Given the description of an element on the screen output the (x, y) to click on. 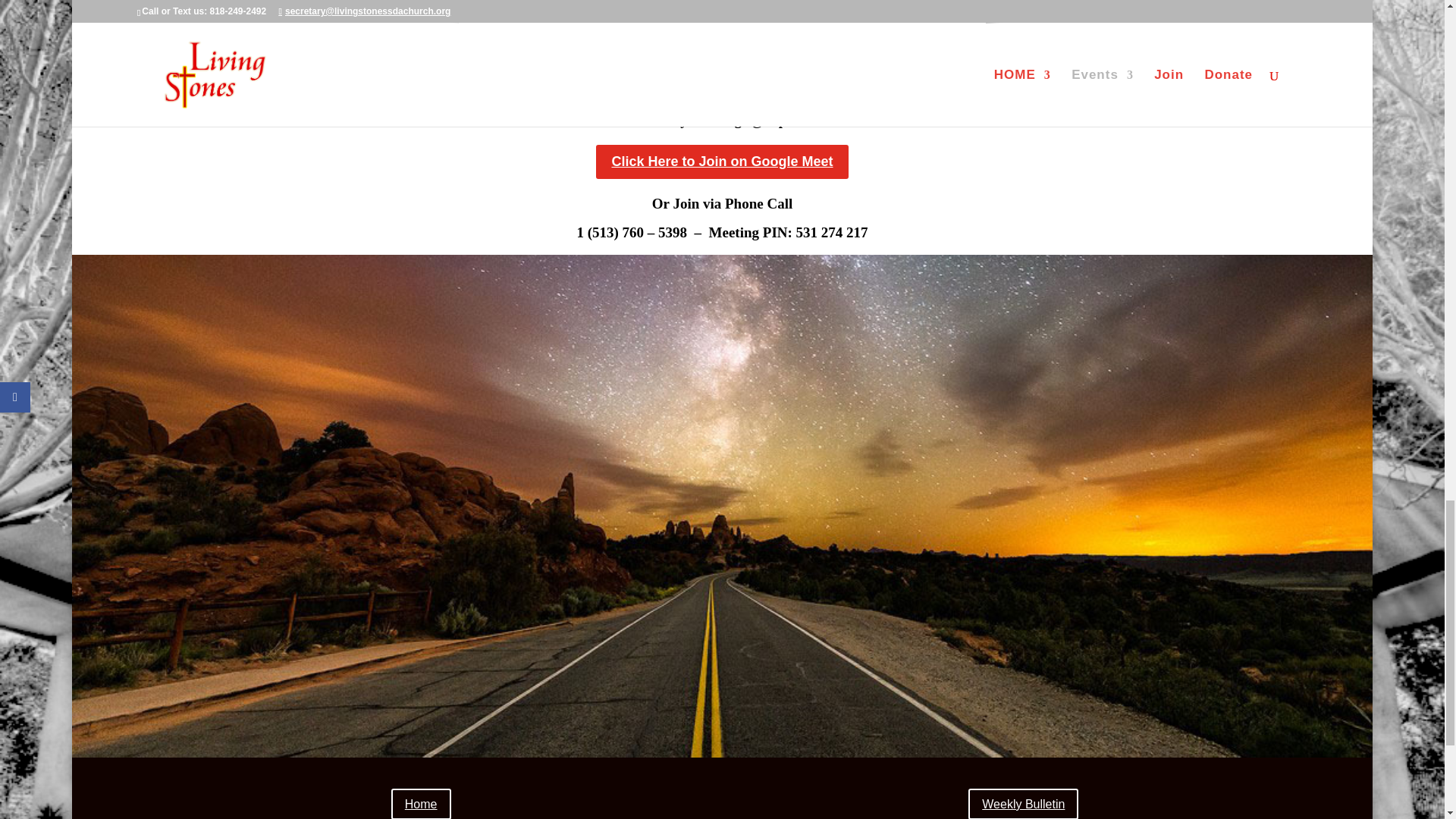
Click Here to Join on Google Meet (721, 161)
Streams of Life - Sabbath School Adult - Google Meet (721, 45)
Home (421, 803)
Weekly Bulletin (1023, 803)
